Given the description of an element on the screen output the (x, y) to click on. 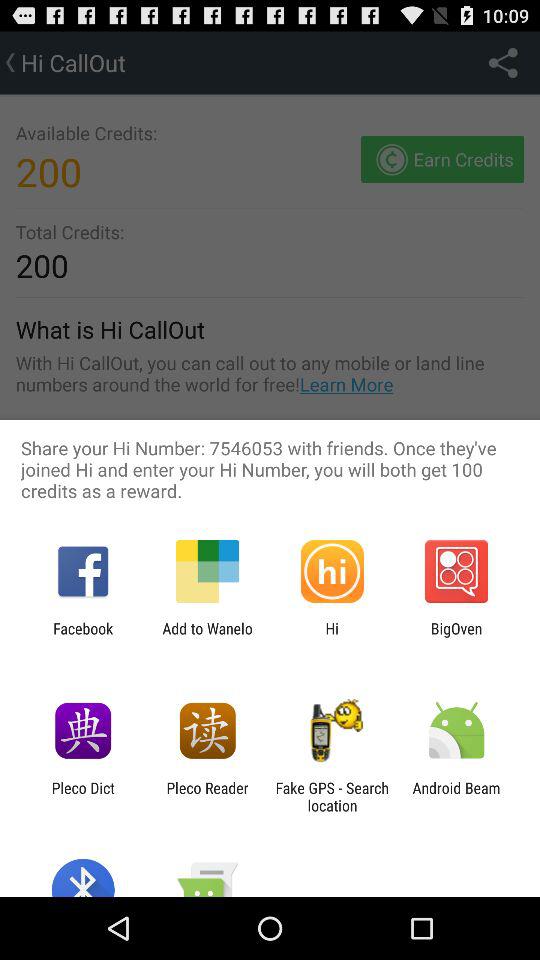
choose the facebook icon (83, 637)
